Given the description of an element on the screen output the (x, y) to click on. 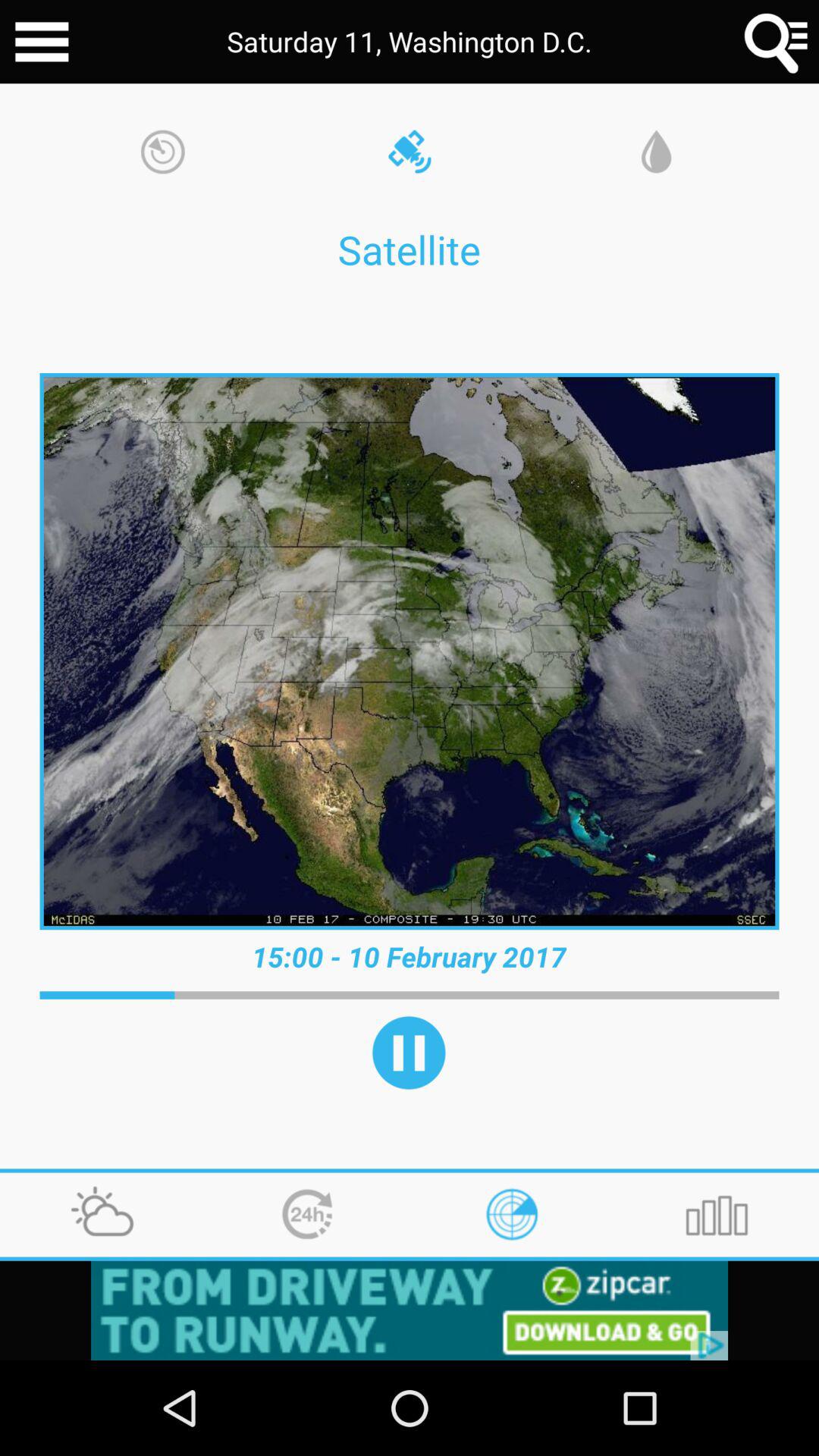
show the menu (41, 41)
